Given the description of an element on the screen output the (x, y) to click on. 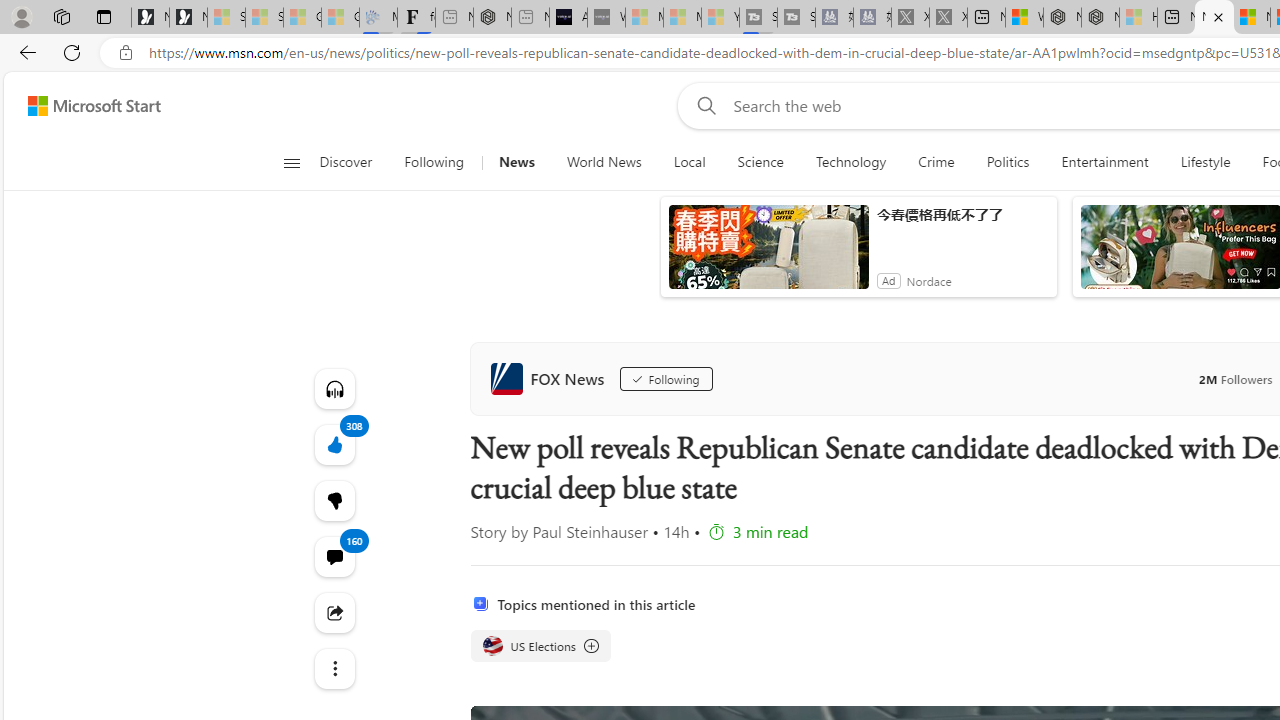
FOX News (551, 378)
Nordace - #1 Japanese Best-Seller - Siena Smart Backpack (491, 17)
Science (760, 162)
Local (688, 162)
Politics (1007, 162)
Web search (702, 105)
US Elections (492, 645)
Newsletter Sign Up (188, 17)
Share this story (333, 612)
308 Like (333, 444)
